Given the description of an element on the screen output the (x, y) to click on. 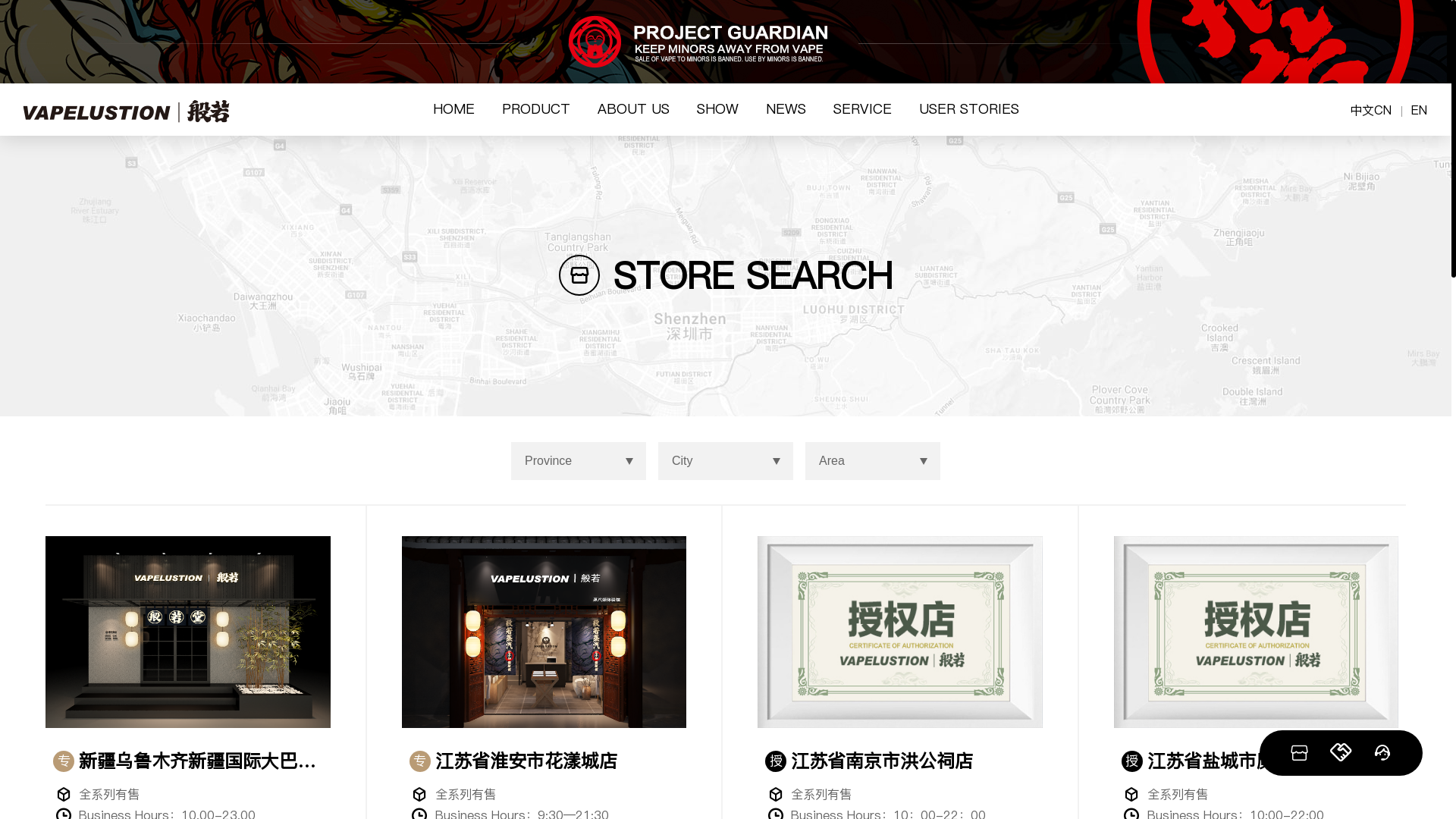
NEWS Element type: text (785, 110)
HOME Element type: text (452, 110)
EN Element type: text (1419, 111)
ABOUT US Element type: text (633, 110)
PRODUCT Element type: text (536, 110)
SHOW Element type: text (716, 110)
SERVICE Element type: text (861, 110)
USER STORIES Element type: text (969, 110)
